Given the description of an element on the screen output the (x, y) to click on. 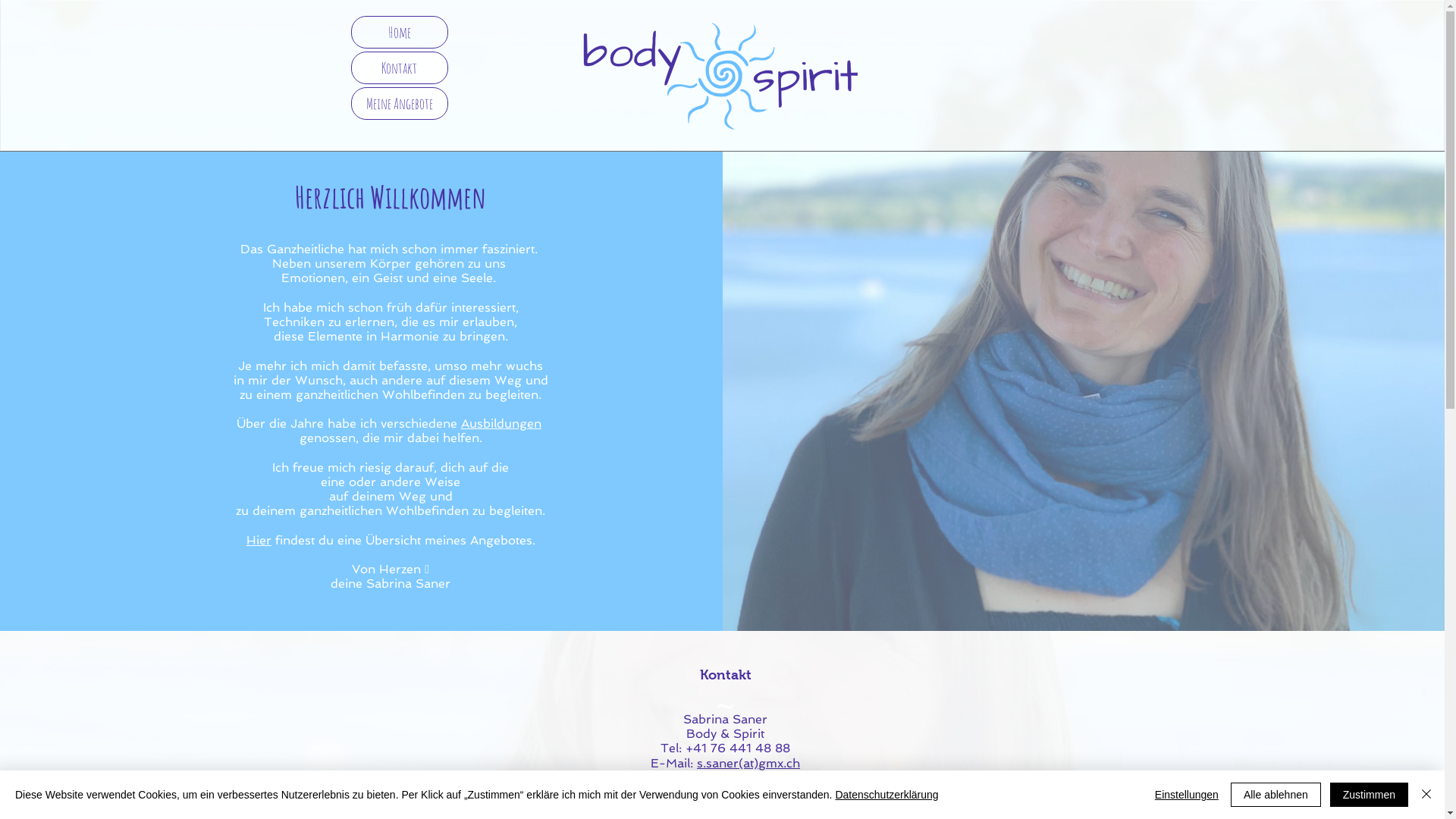
Meine Angebote Element type: text (399, 103)
s.saner(at)gmx.ch Element type: text (748, 763)
Zustimmen Element type: text (1369, 794)
Kontakt Element type: text (399, 67)
Home Element type: text (399, 31)
Hier Element type: text (258, 540)
Ausbildungen Element type: text (501, 423)
Alle ablehnen Element type: text (1275, 794)
